Given the description of an element on the screen output the (x, y) to click on. 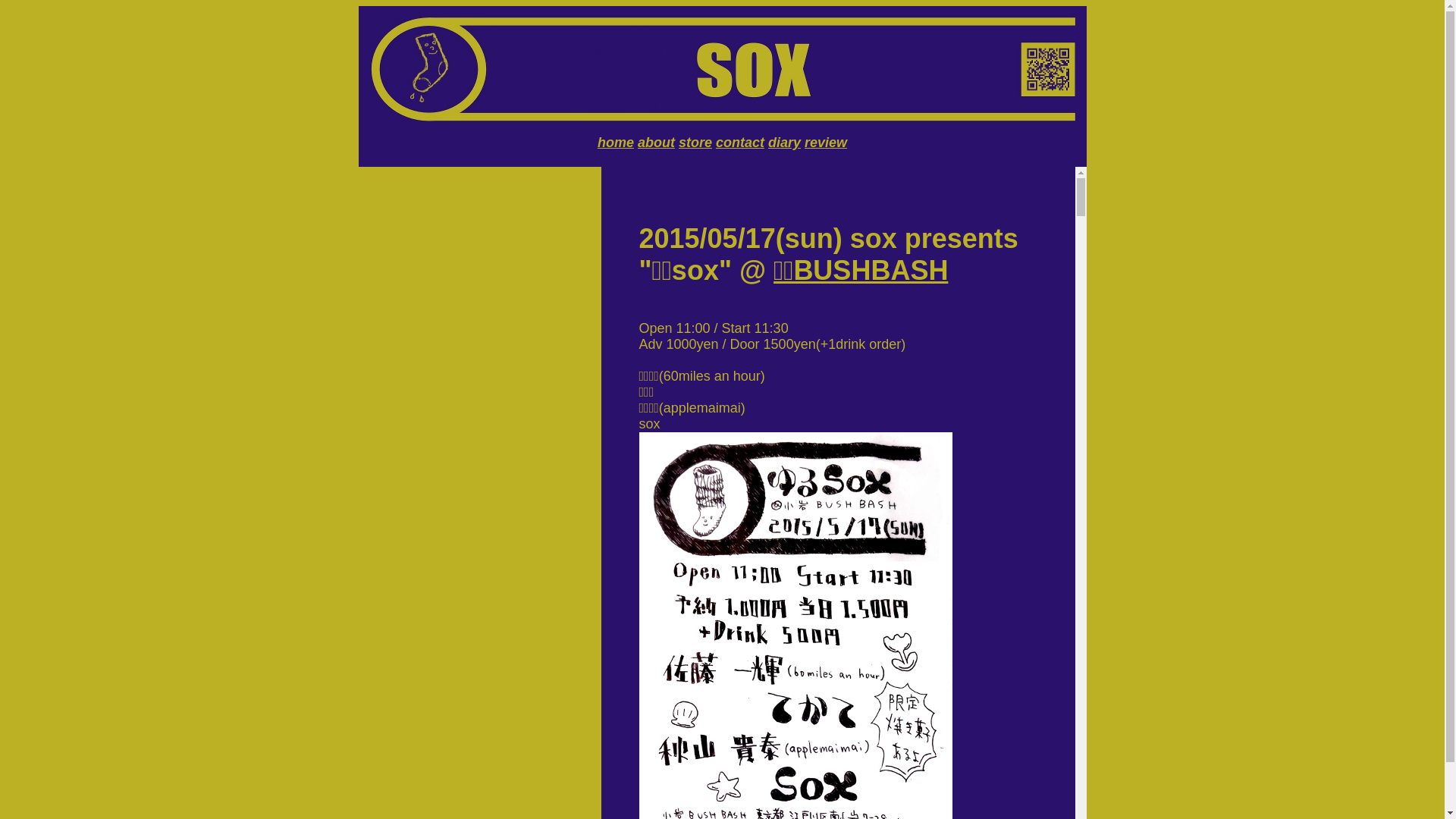
review Element type: text (825, 142)
store Element type: text (695, 142)
contact Element type: text (739, 142)
about Element type: text (655, 142)
home Element type: text (615, 142)
diary Element type: text (784, 142)
Tweets by @sox_minel Element type: text (479, 400)
